Given the description of an element on the screen output the (x, y) to click on. 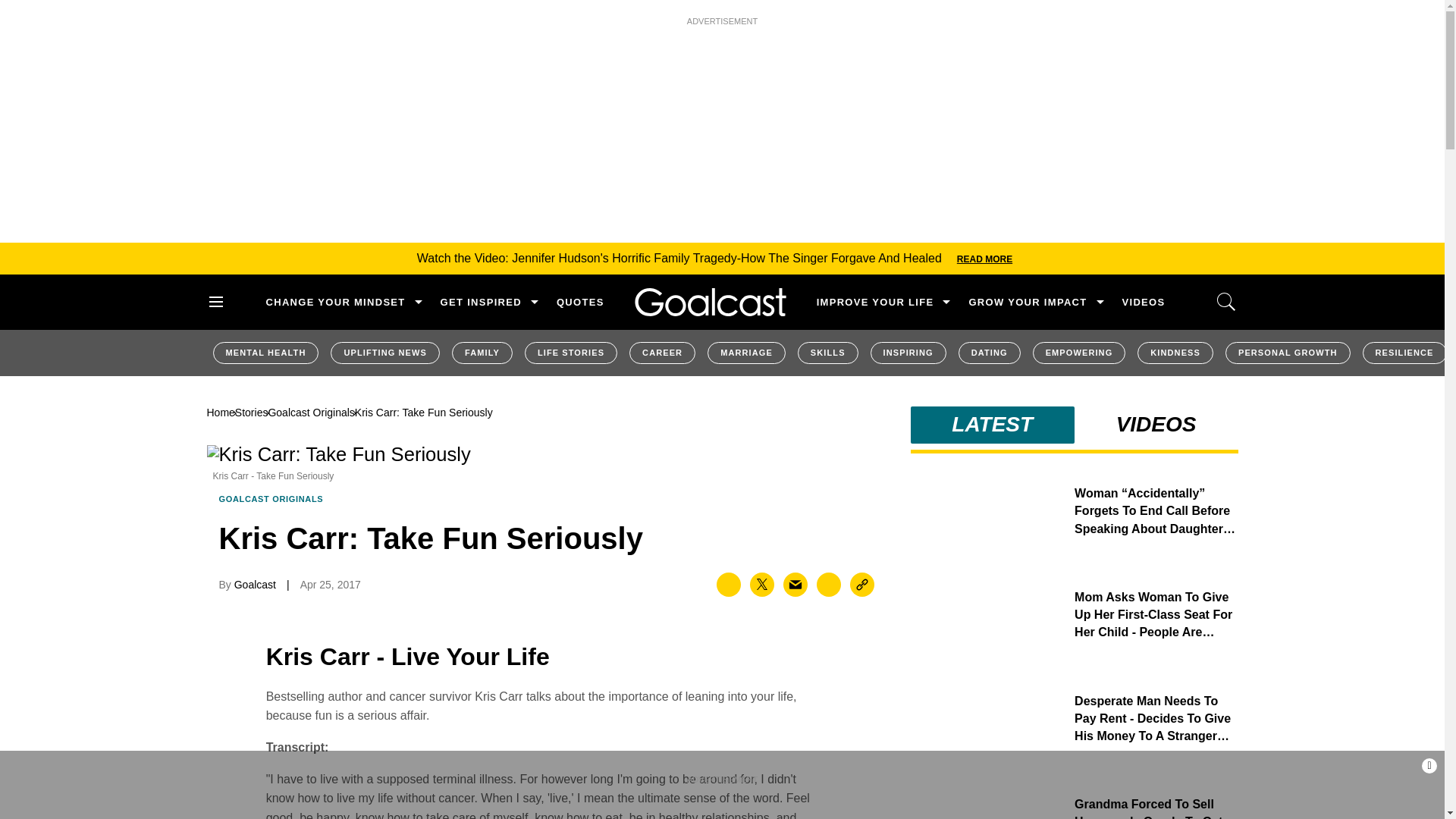
GROW YOUR IMPACT (1027, 301)
VIDEOS (1144, 301)
QUOTES (580, 301)
IMPROVE YOUR LIFE (875, 301)
Copy this link to clipboard (862, 584)
GET INSPIRED (481, 301)
CHANGE YOUR MINDSET (334, 301)
